Given the description of an element on the screen output the (x, y) to click on. 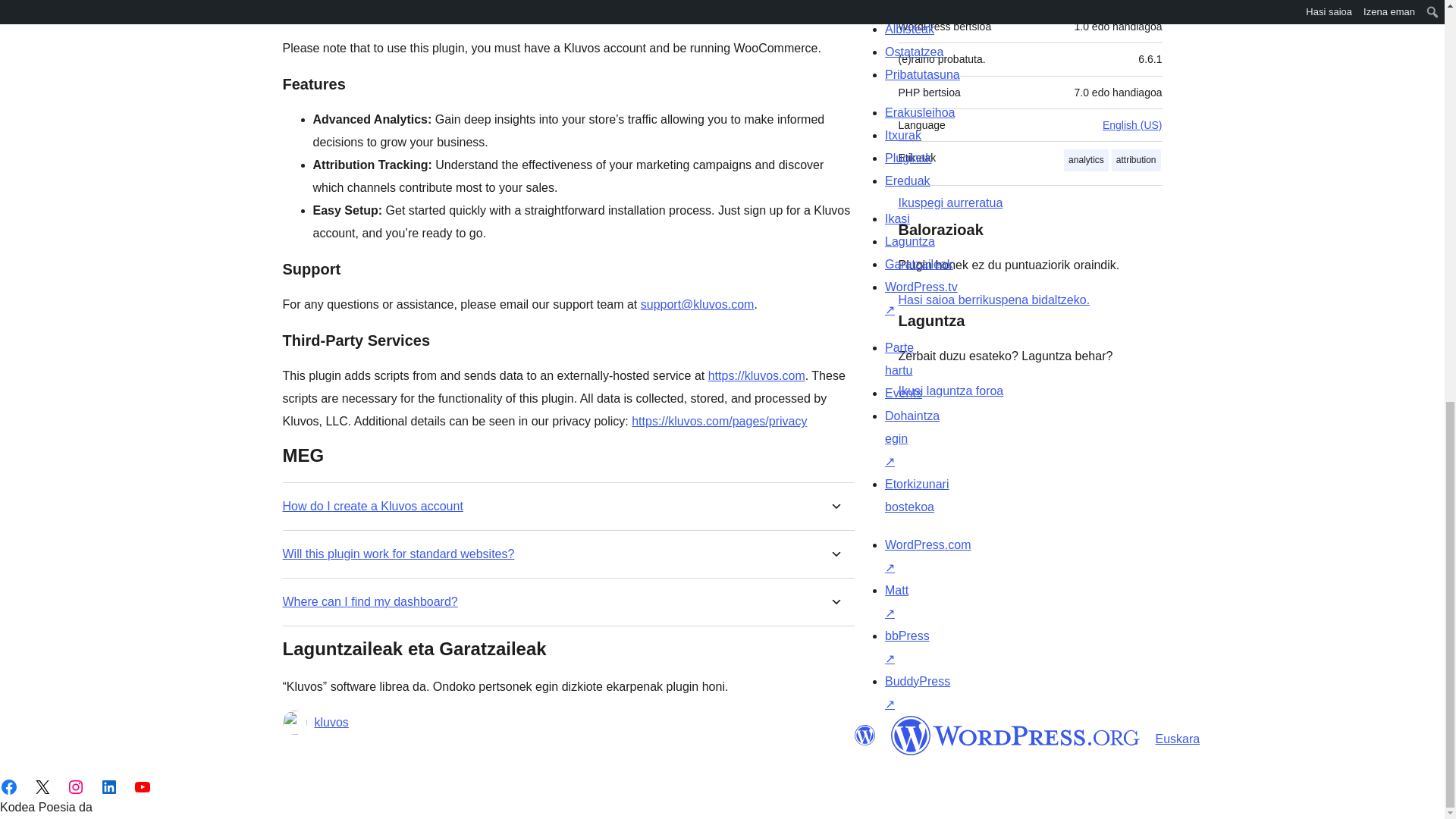
WordPress.org (864, 735)
Hasi saioa WordPress.org-en (993, 299)
kluvos (330, 722)
WordPress.org (1014, 735)
